Given the description of an element on the screen output the (x, y) to click on. 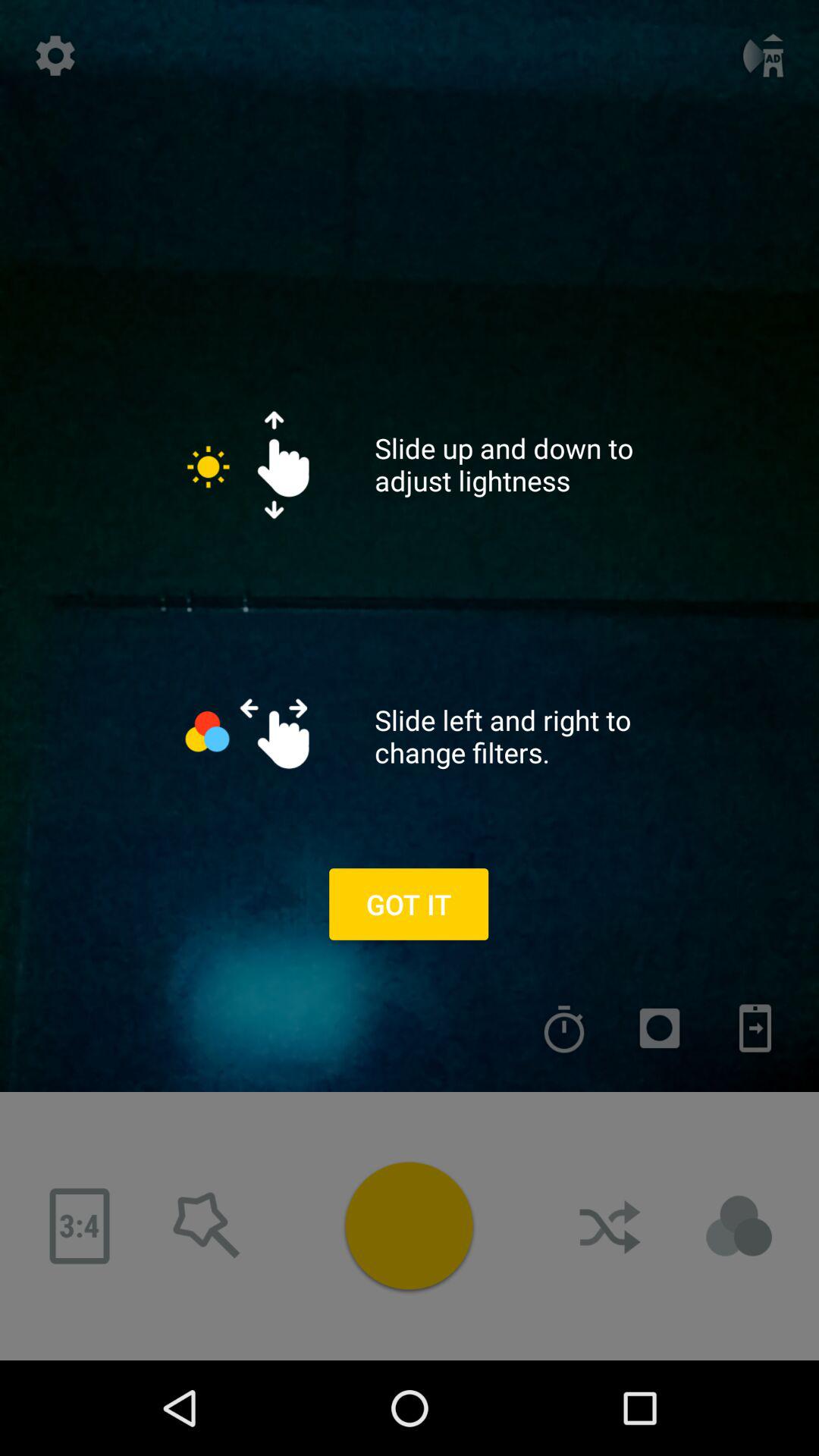
select the colour (408, 1225)
